Given the description of an element on the screen output the (x, y) to click on. 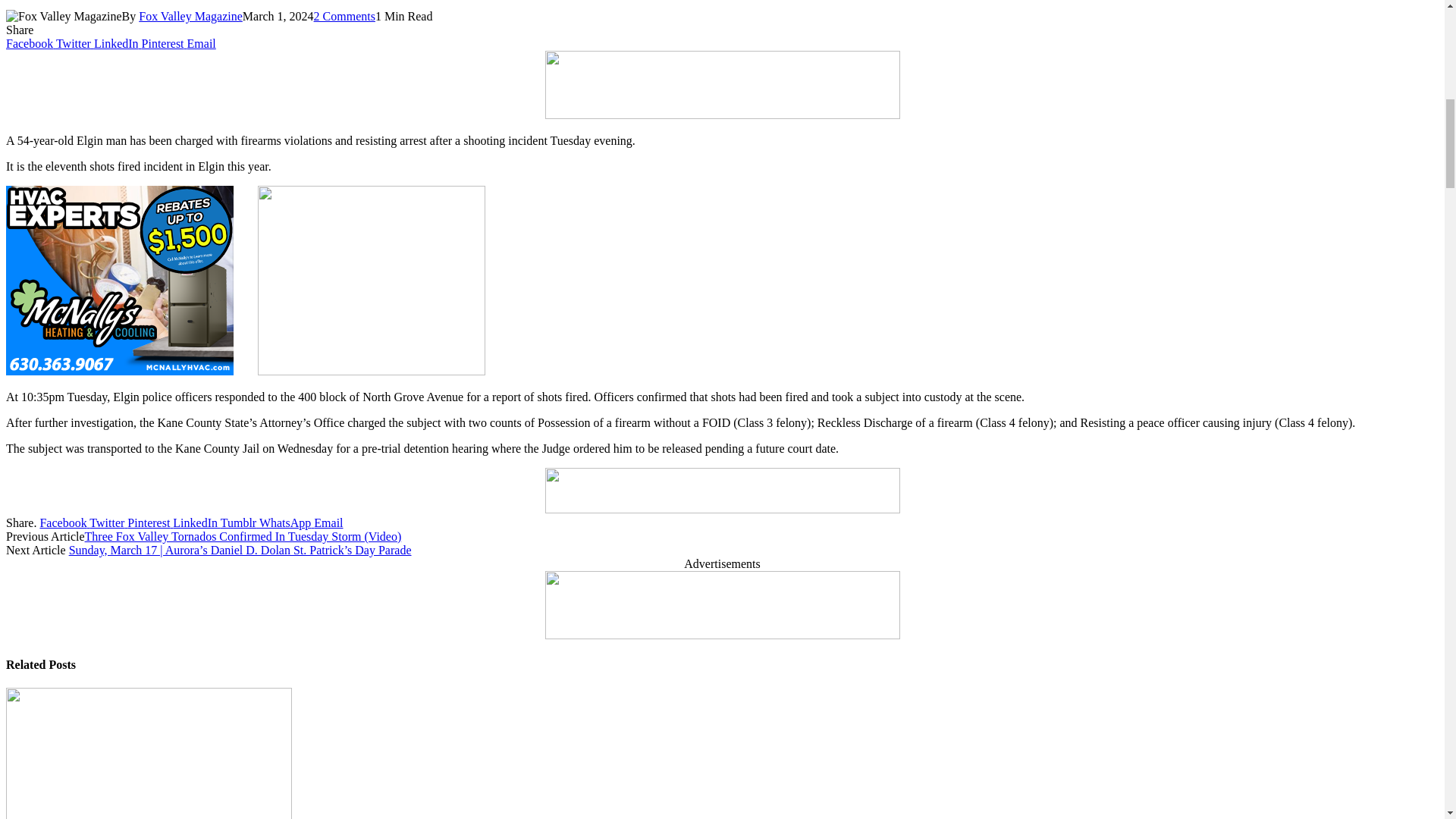
2 Comments (344, 15)
Pinterest (164, 42)
LinkedIn (117, 42)
Facebook (30, 42)
Pinterest (164, 42)
Fox Valley Magazine (190, 15)
Twitter (75, 42)
Email (201, 42)
Facebook (30, 42)
LinkedIn (117, 42)
